Given the description of an element on the screen output the (x, y) to click on. 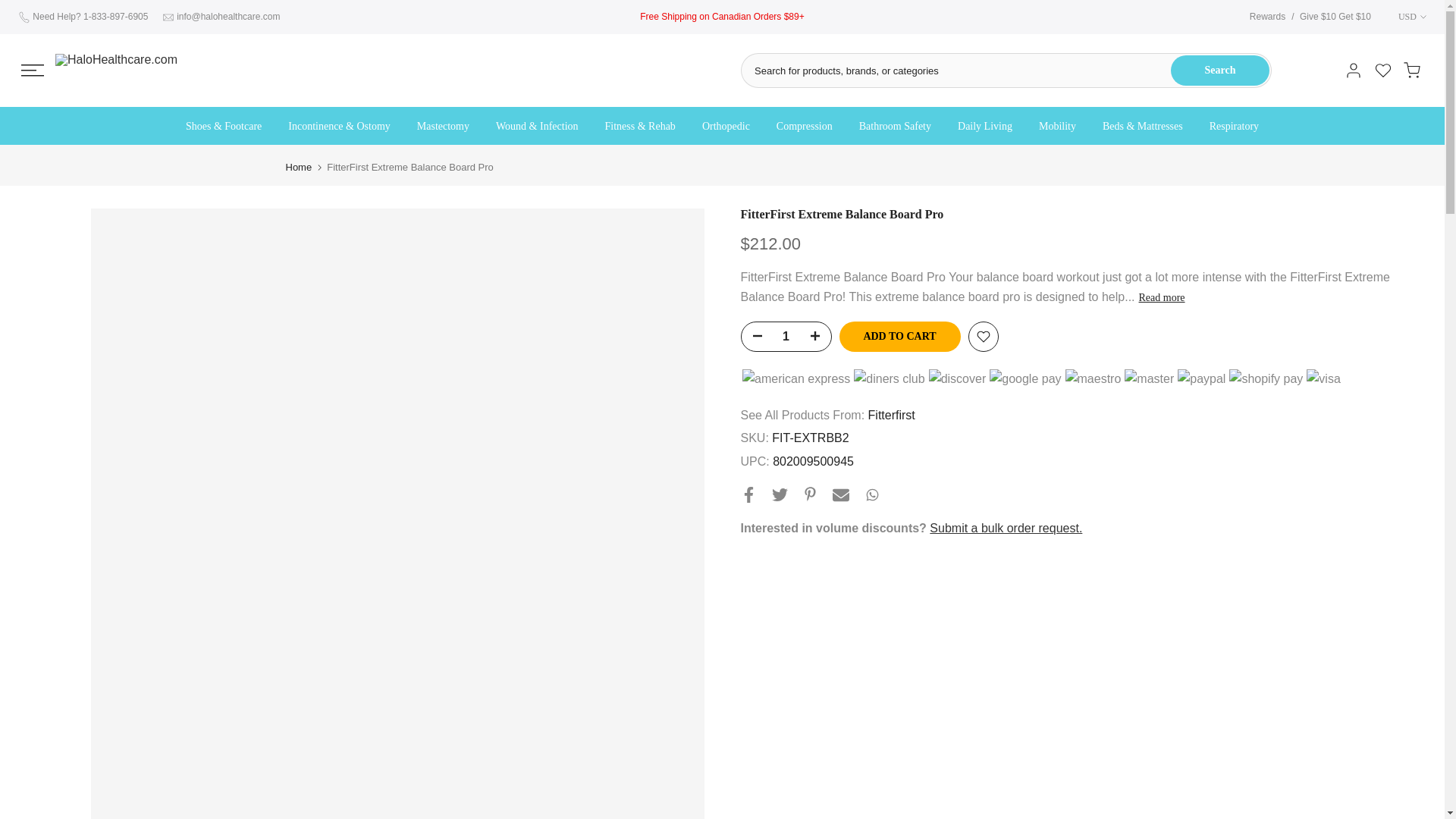
Need Help? 1-833-897-6905 (90, 16)
USD (1403, 16)
Skip to content (10, 7)
Orthopedic (725, 126)
Daily Living (985, 126)
Compression (803, 126)
1 (786, 336)
Share on Pinterest (809, 493)
Share on Facebook (747, 494)
Share on Twitter (779, 494)
